Given the description of an element on the screen output the (x, y) to click on. 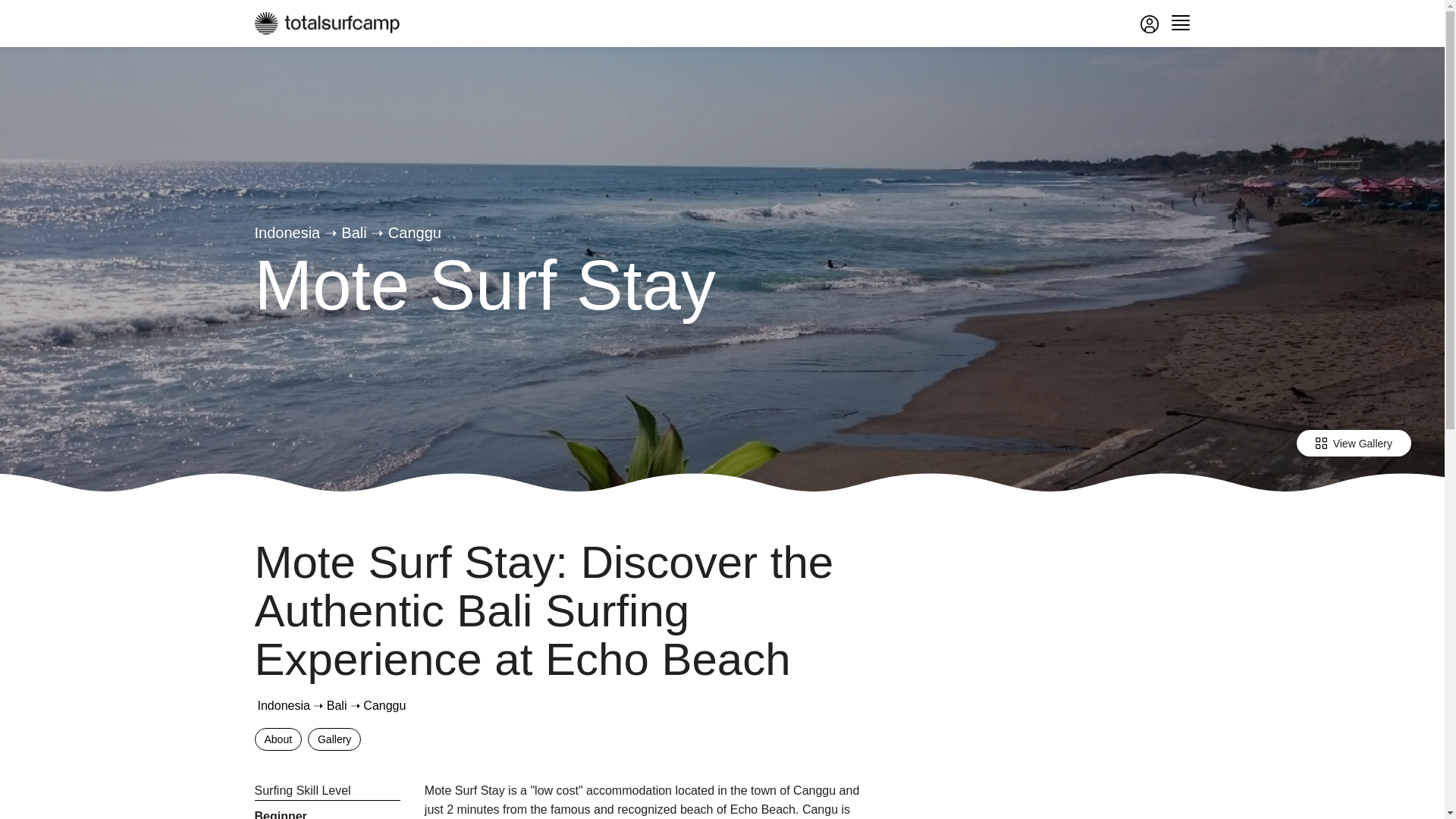
View Gallery (1353, 442)
About Gallery (564, 742)
